Given the description of an element on the screen output the (x, y) to click on. 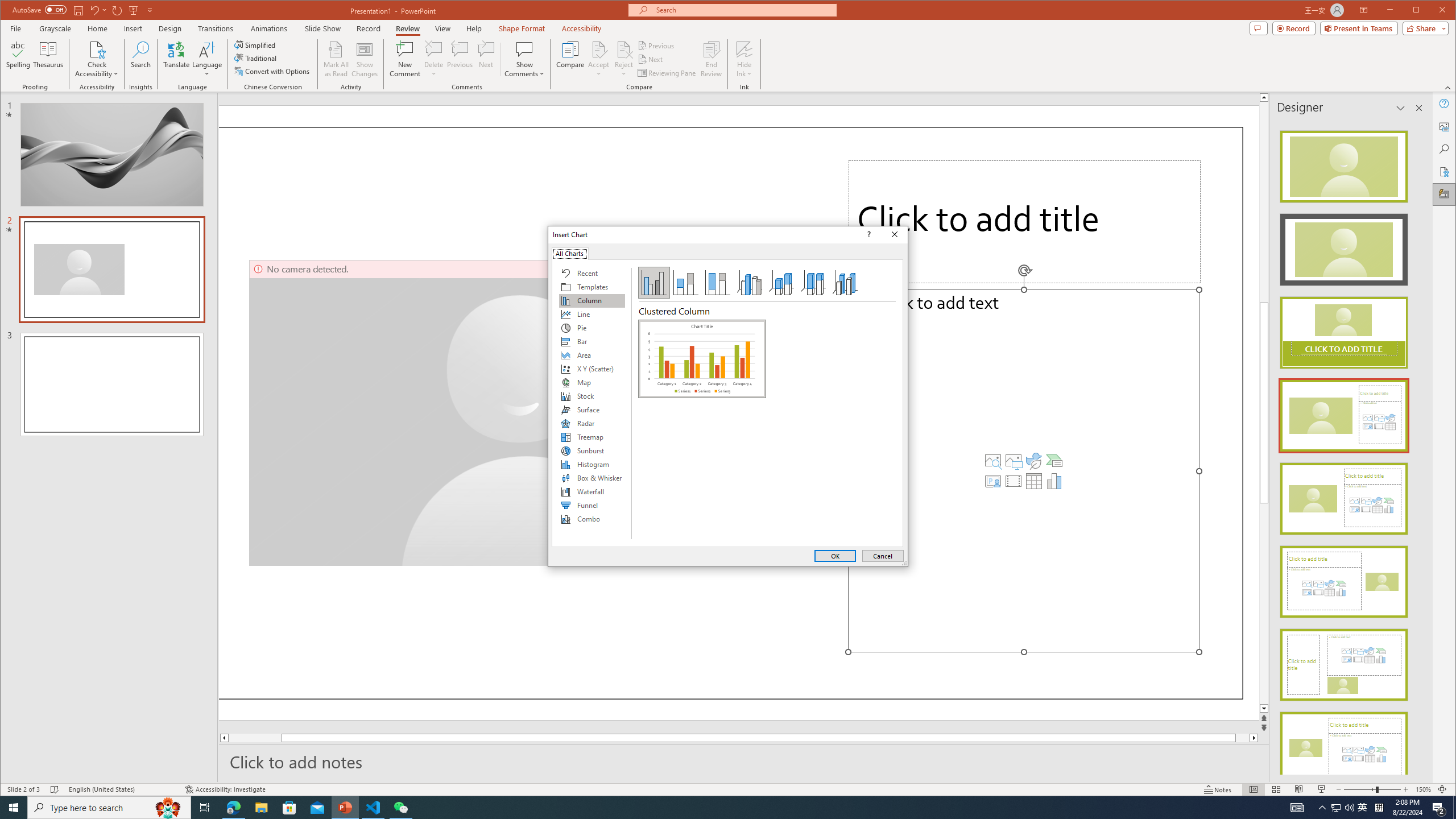
3-D Clustered Column (749, 282)
Next (651, 59)
Pie (591, 327)
Treemap (591, 436)
Chart Types (591, 403)
Insert Chart (1053, 480)
Insert an Icon (1033, 460)
